Given the description of an element on the screen output the (x, y) to click on. 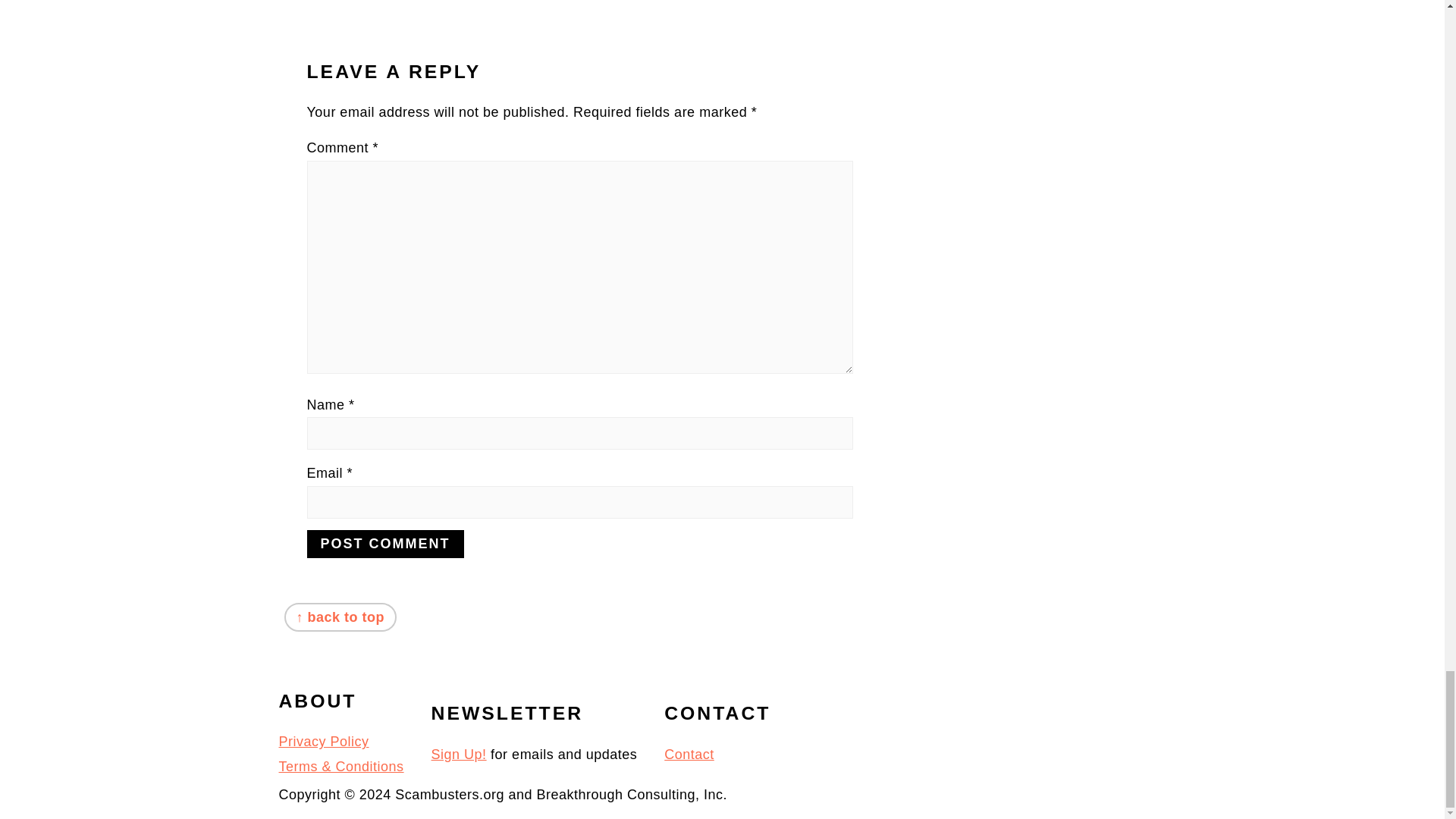
Get Our Weekly Scambusters Newsletter (458, 754)
Post Comment (384, 543)
Privacy Policy (324, 741)
Privacy Policy (324, 741)
Post Comment (384, 543)
Sign Up! (458, 754)
Contact (688, 754)
Terms of Service (341, 766)
Contact Us (688, 754)
